Given the description of an element on the screen output the (x, y) to click on. 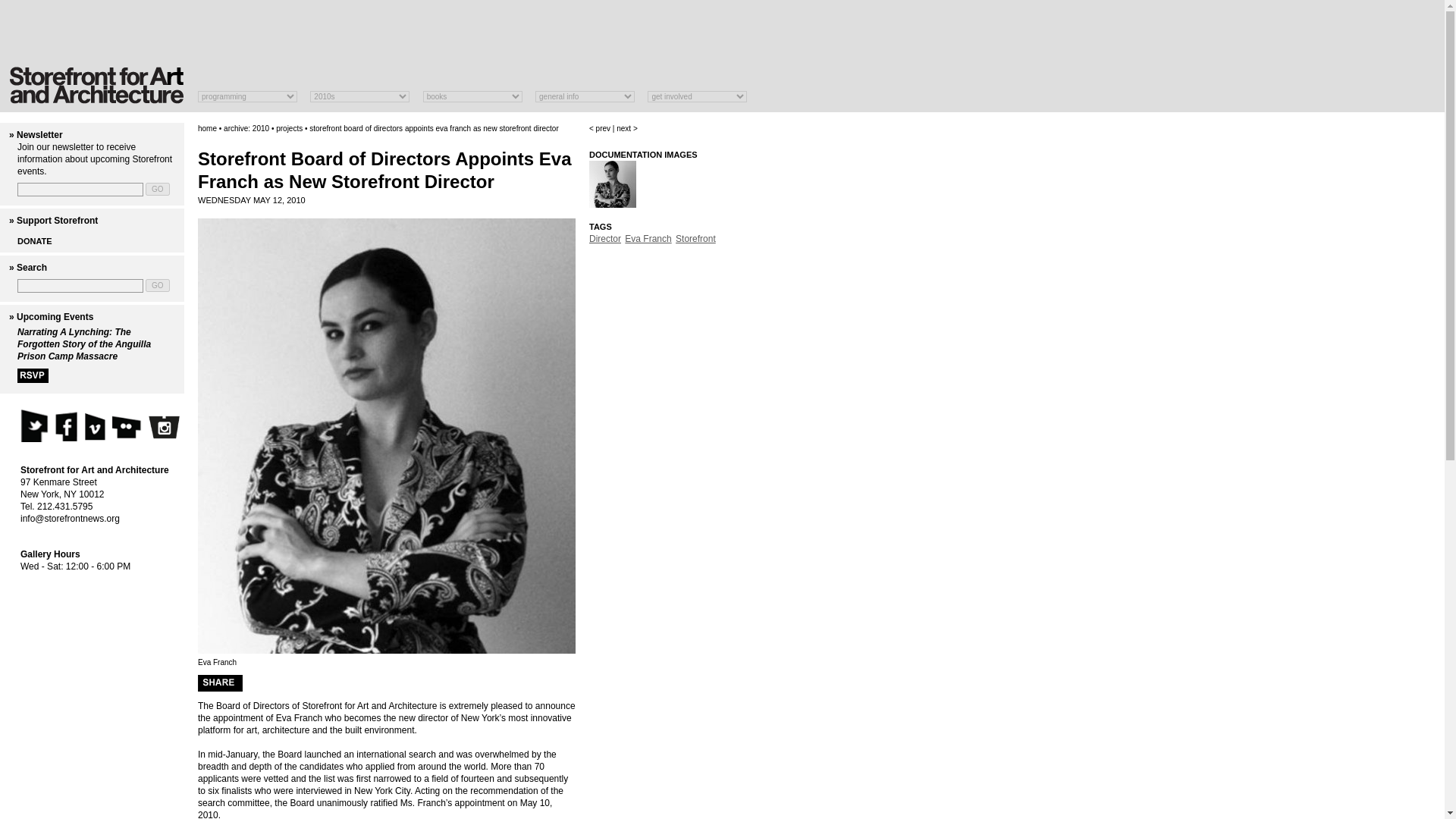
GO (157, 188)
projects (289, 128)
Storefront (695, 238)
See our Instagram (164, 428)
GO (157, 285)
DONATE (34, 240)
Director (605, 238)
home (207, 128)
archive: 2010 (246, 128)
Follow us on Twitter (33, 424)
See our Flickr photostream (128, 424)
Support Storefront (56, 220)
GO (157, 285)
GO (157, 188)
Eva Franch (647, 238)
